Given the description of an element on the screen output the (x, y) to click on. 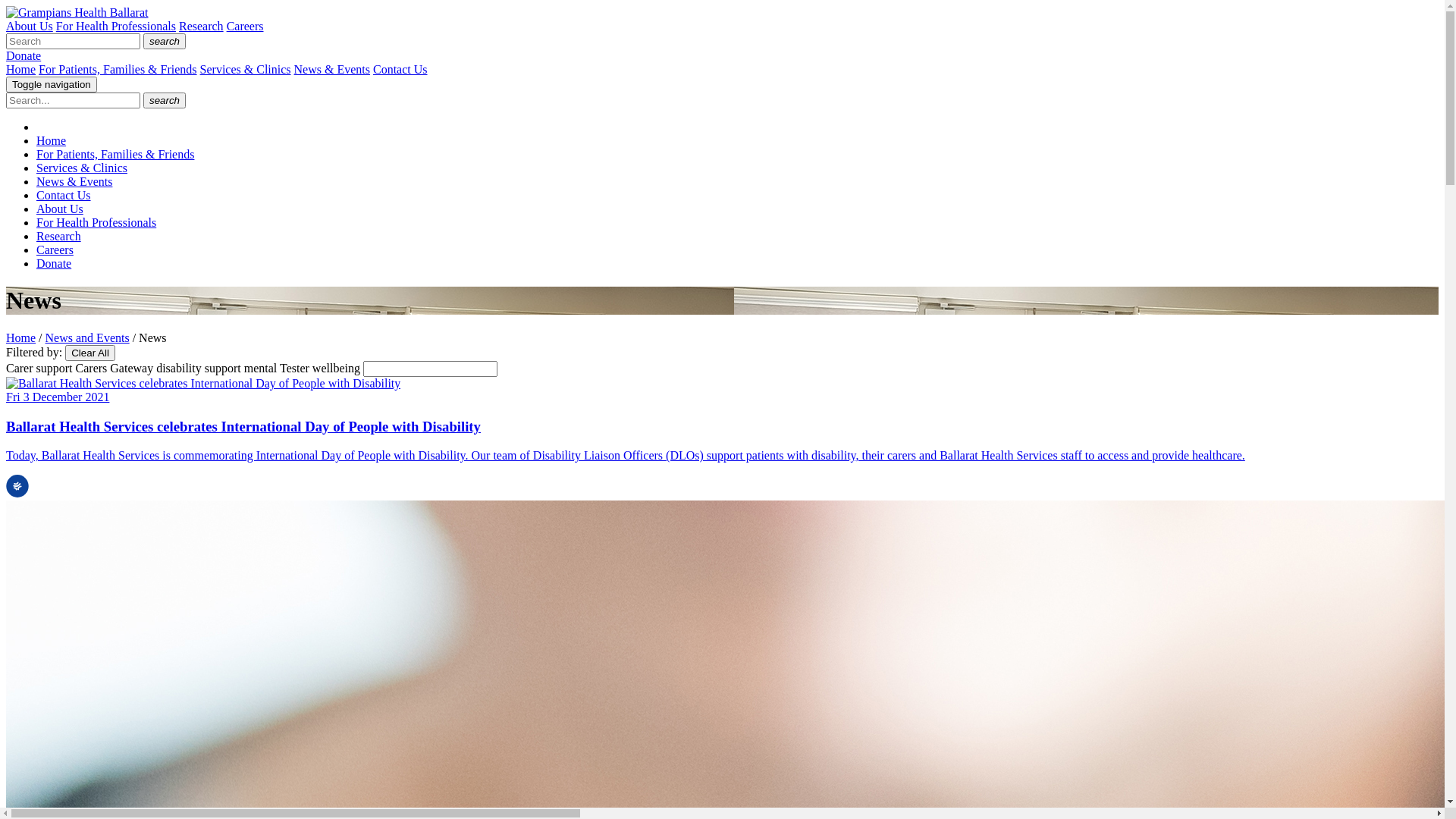
Careers Element type: text (54, 249)
Careers Element type: text (244, 25)
For Health Professionals Element type: text (115, 25)
Toggle navigation Element type: text (51, 84)
Donate Element type: text (53, 263)
Clear All Element type: text (90, 352)
Services & Clinics Element type: text (81, 167)
Services & Clinics Element type: text (245, 68)
Contact Us Element type: text (63, 194)
For Patients, Families & Friends Element type: text (115, 153)
About Us Element type: text (29, 25)
News & Events Element type: text (332, 68)
Contact Us Element type: text (400, 68)
search Element type: text (164, 41)
Research Element type: text (58, 235)
Donate Element type: text (23, 55)
search Element type: text (164, 100)
Home Element type: text (20, 68)
News and Events Element type: text (87, 337)
For Patients, Families & Friends Element type: text (117, 68)
News & Events Element type: text (74, 181)
Home Element type: text (50, 140)
About Us Element type: text (59, 208)
Home Element type: text (20, 337)
Research Element type: text (200, 25)
For Health Professionals Element type: text (96, 222)
